Given the description of an element on the screen output the (x, y) to click on. 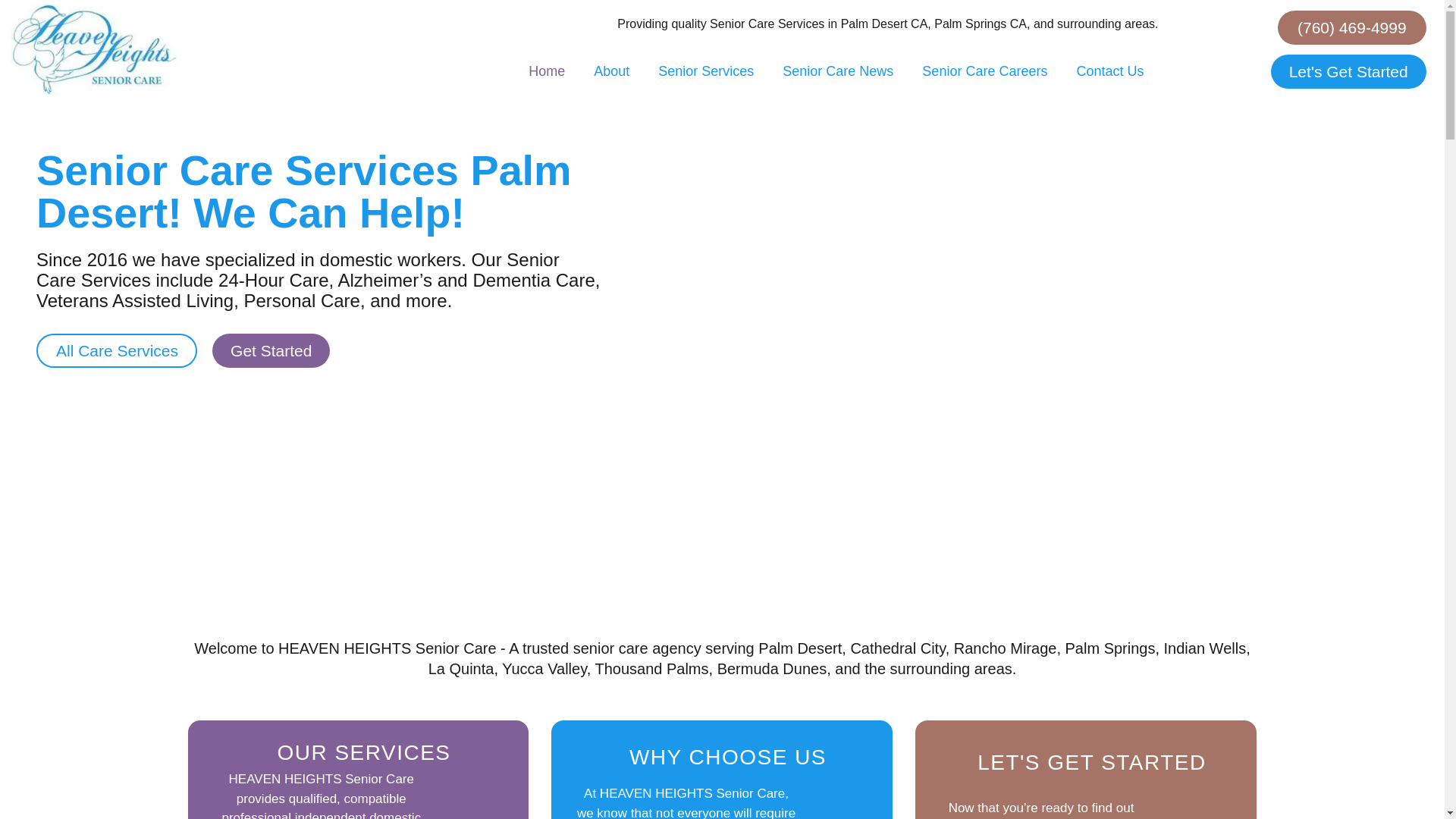
All Care Services (116, 350)
Senior Care Careers (984, 70)
Get Started (271, 350)
Let's Get Started (1348, 71)
About (611, 70)
Contact Us (1109, 70)
Senior Services (705, 70)
Senior Care News (837, 70)
Home (546, 70)
